Given the description of an element on the screen output the (x, y) to click on. 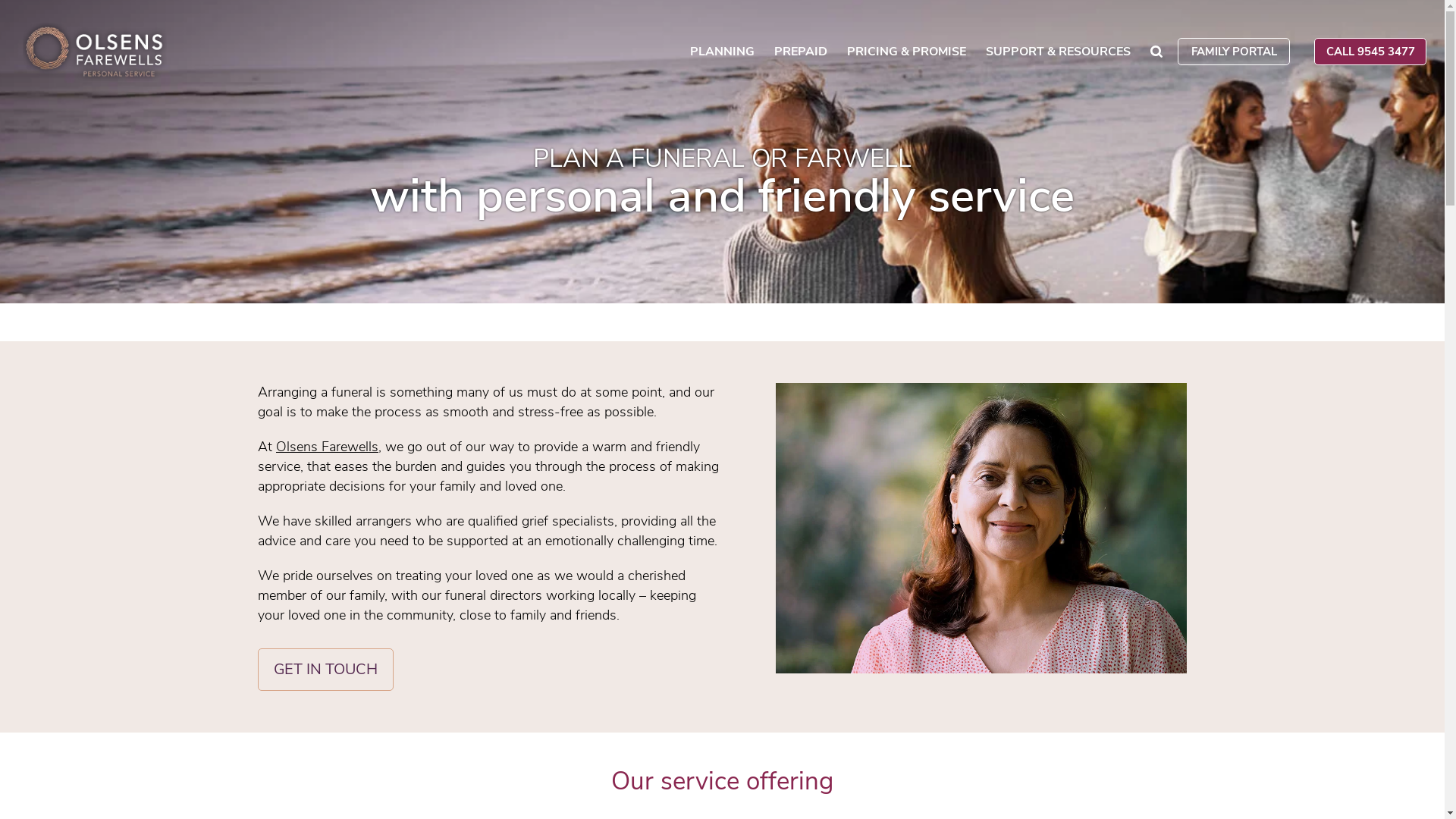
FAMILY PORTAL Element type: text (1233, 51)
GET IN TOUCH Element type: text (325, 669)
Olsens Farewells Element type: text (327, 446)
CALL 9545 3477 Element type: text (1370, 51)
SUPPORT & RESOURCES Element type: text (1057, 55)
PREPAID Element type: text (800, 55)
PRICING & PROMISE Element type: text (906, 55)
PLANNING Element type: text (722, 55)
